Given the description of an element on the screen output the (x, y) to click on. 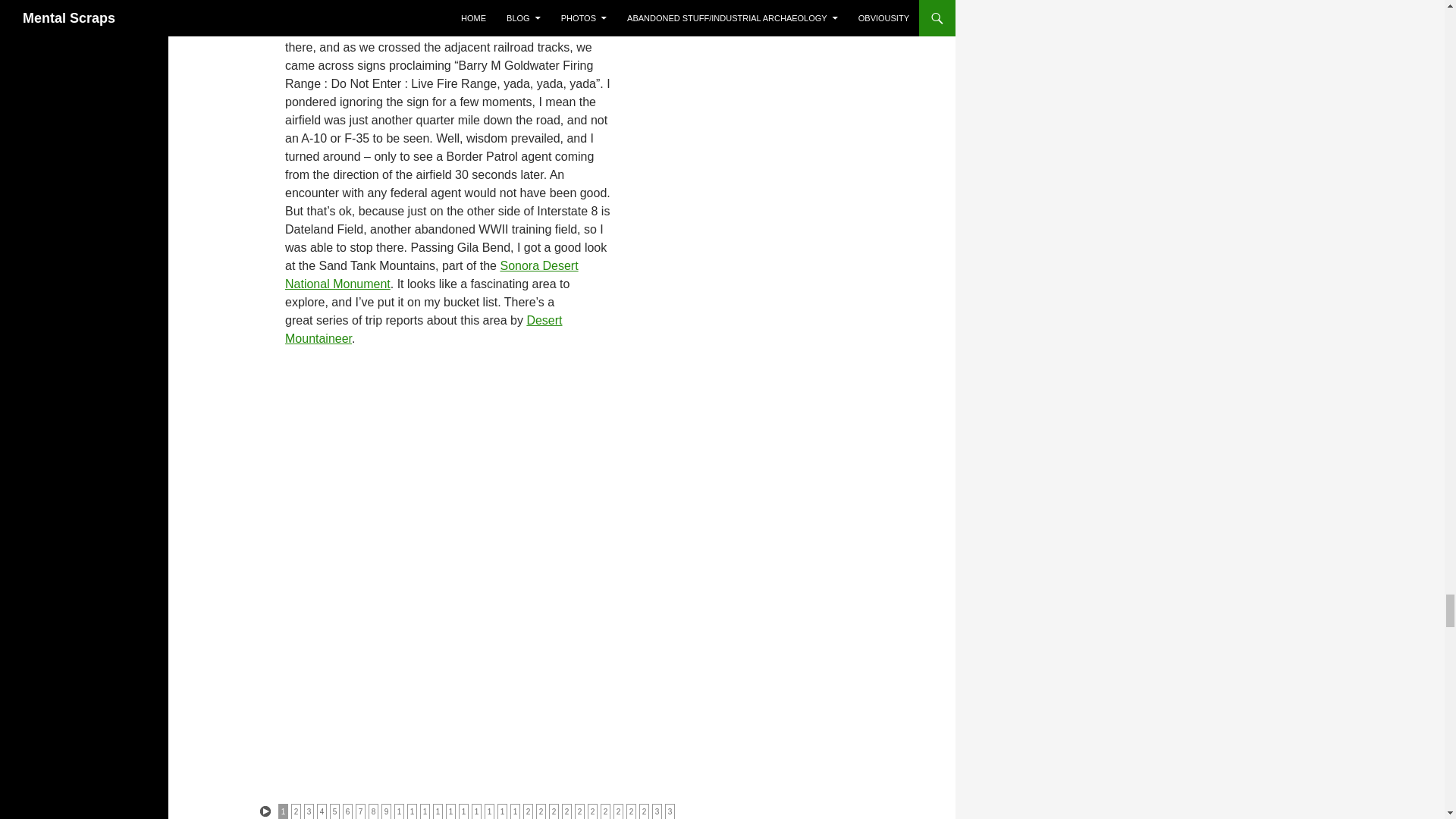
Desert Mountaineer  (423, 328)
Sonora Desert National Monument (431, 274)
